Given the description of an element on the screen output the (x, y) to click on. 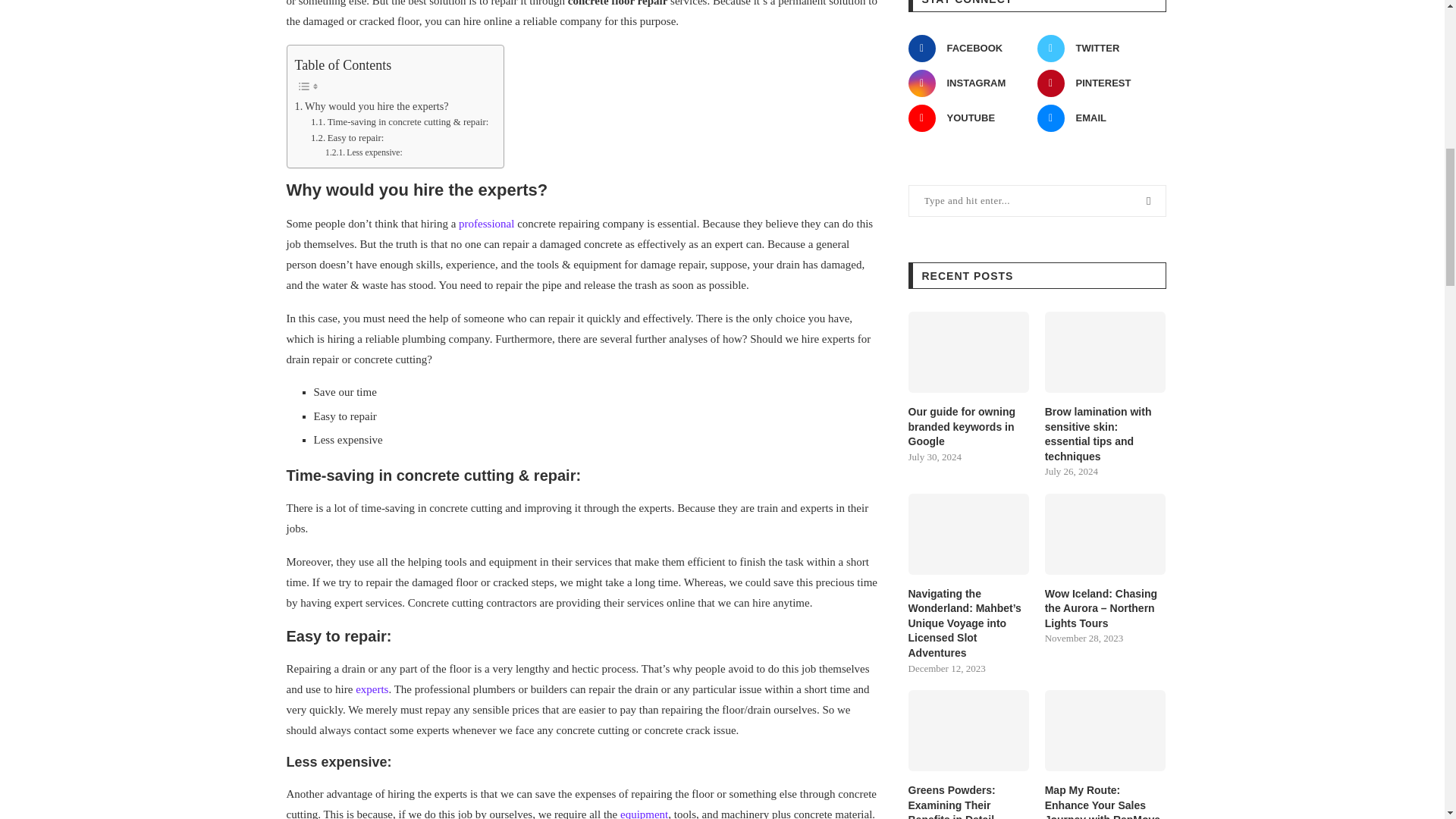
equipment (642, 813)
Less expensive: (363, 151)
professional (485, 223)
Easy to repair: (347, 138)
Why would you hire the experts? (371, 106)
Why would you hire the experts? (371, 106)
Less expensive: (363, 151)
Easy to repair: (347, 138)
experts (371, 689)
